Given the description of an element on the screen output the (x, y) to click on. 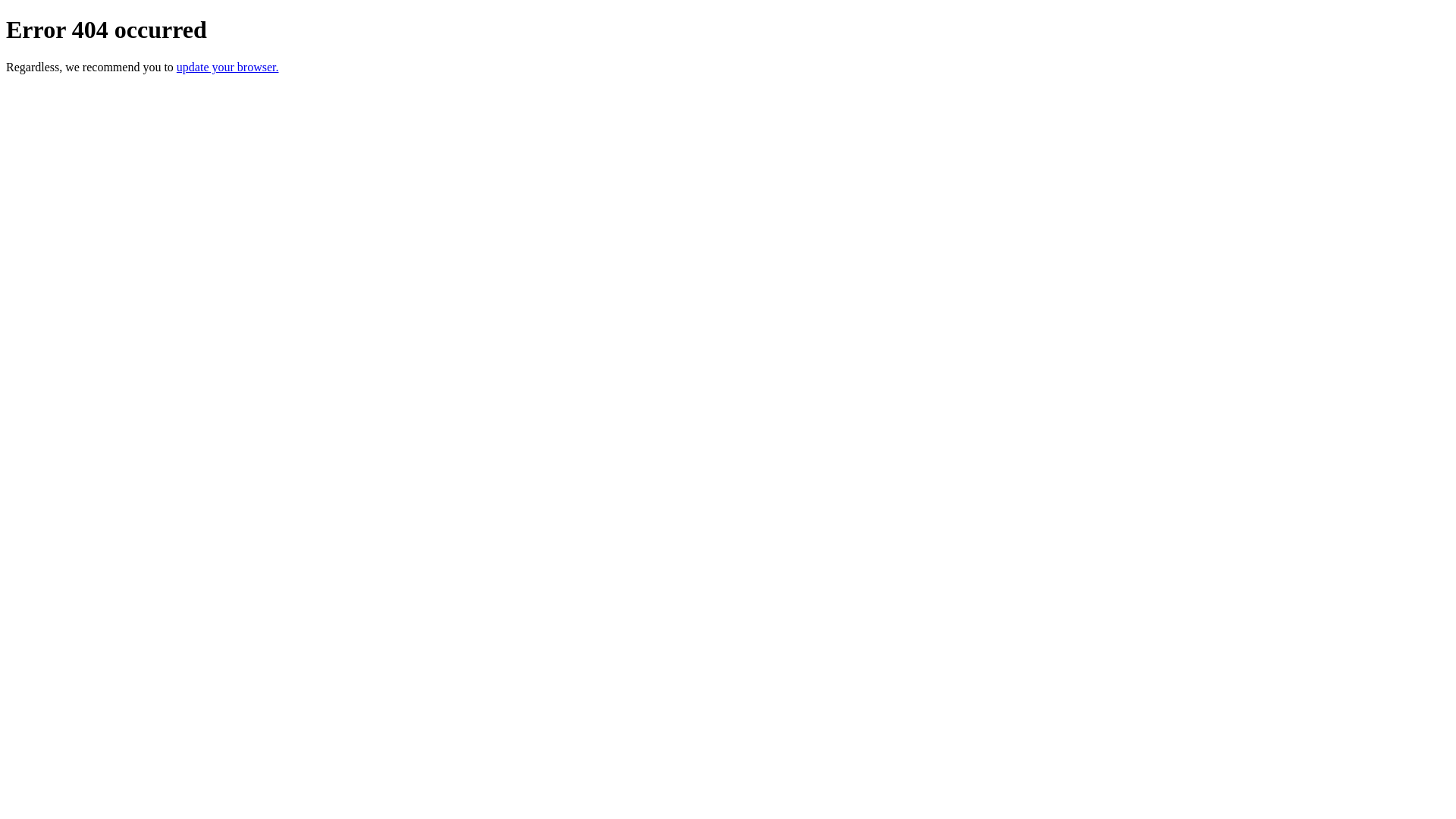
update your browser. Element type: text (227, 66)
